Given the description of an element on the screen output the (x, y) to click on. 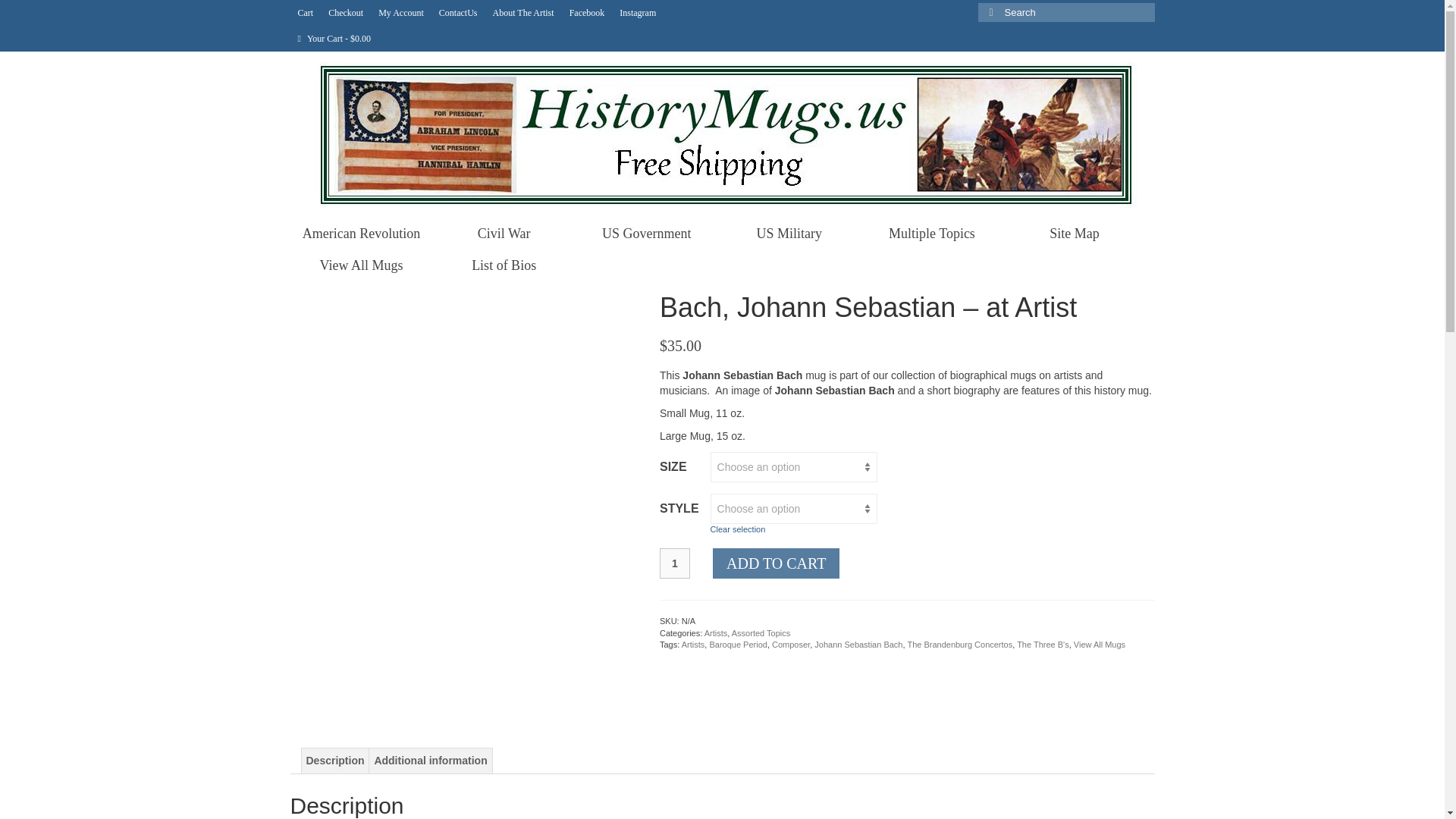
List of Bios (503, 265)
Checkout (345, 12)
Multiple Topics (931, 233)
View All Mugs (360, 265)
American Revolution (360, 233)
About The Artist (523, 12)
1 (674, 562)
Cart (304, 12)
US Government (646, 233)
Site Map (1074, 233)
